Given the description of an element on the screen output the (x, y) to click on. 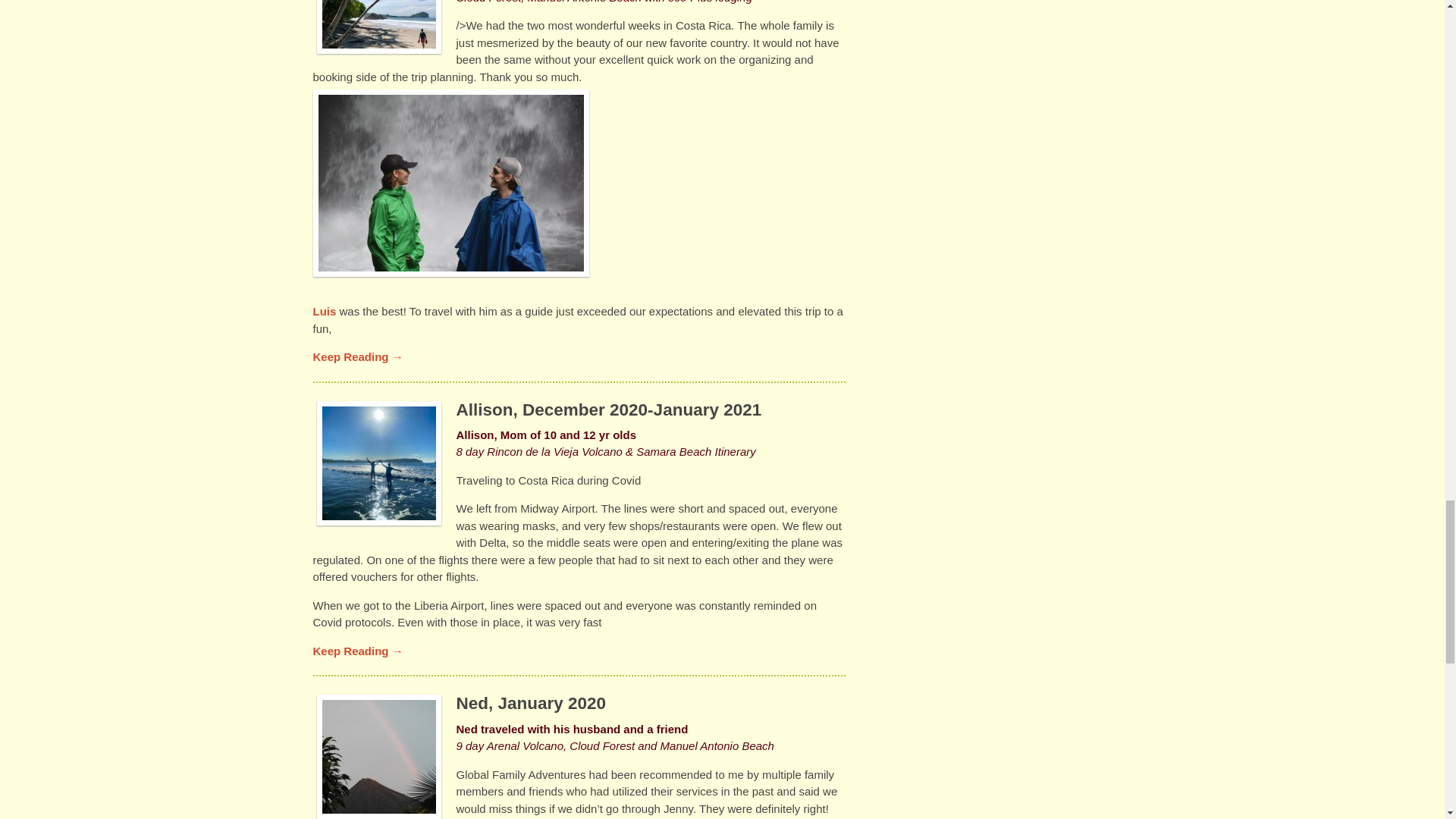
Allison, December 2020-January 2021 (609, 409)
Ned, January 2020 (532, 702)
